Given the description of an element on the screen output the (x, y) to click on. 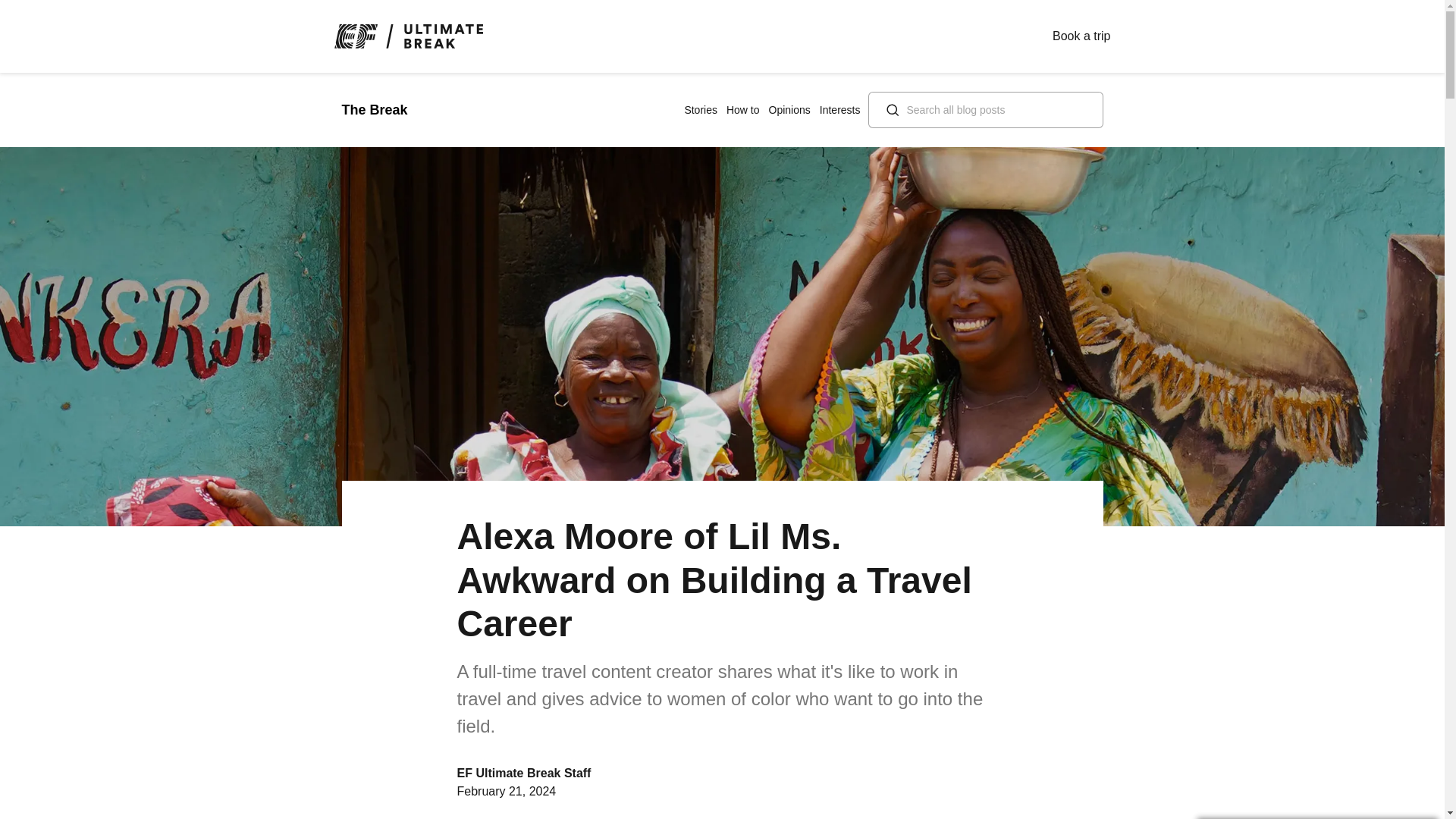
Stories (700, 109)
Book a trip (1080, 35)
The Break (373, 110)
Interests (839, 109)
Opinions (789, 109)
How to (743, 109)
